Given the description of an element on the screen output the (x, y) to click on. 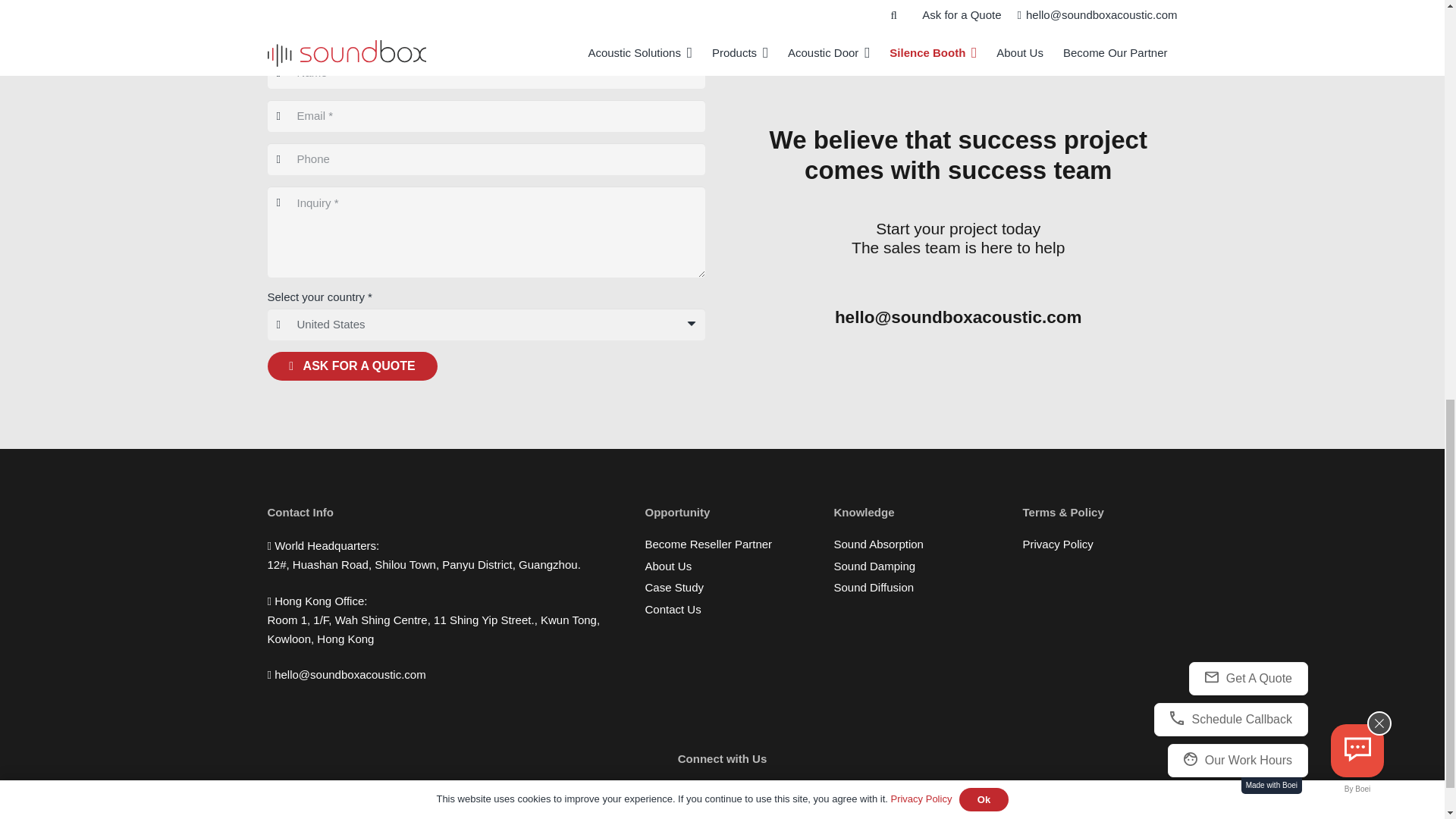
Instagram (740, 799)
Facebook (703, 799)
LinkedIn (667, 799)
YouTube (776, 799)
Back to top (1413, 26)
